Given the description of an element on the screen output the (x, y) to click on. 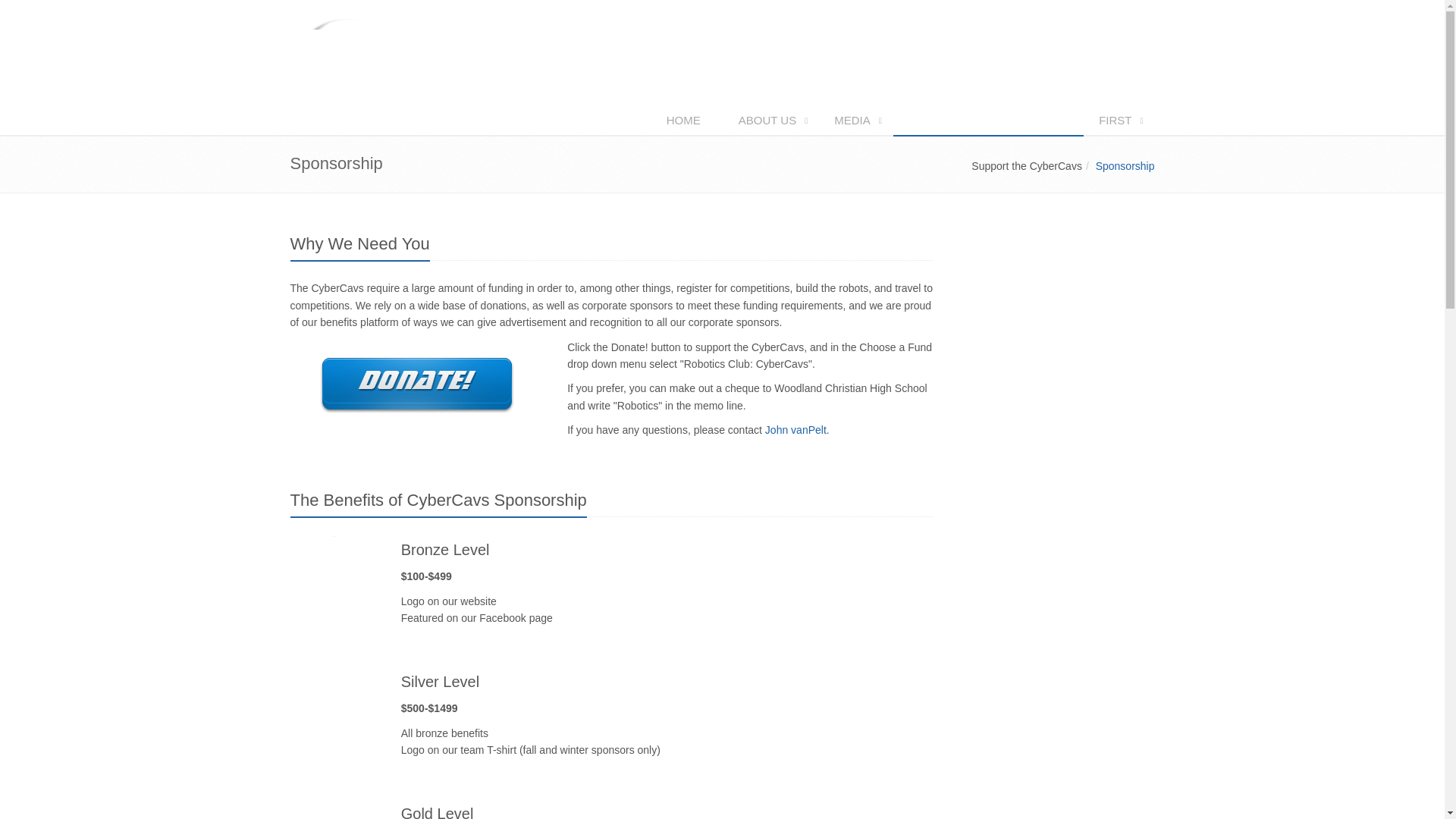
ABOUT US (770, 121)
FIRST (1118, 121)
MEDIA (855, 121)
HOME (686, 121)
John vanPelt (796, 429)
SUPPORT THE CYBERCAVS (988, 121)
